Given the description of an element on the screen output the (x, y) to click on. 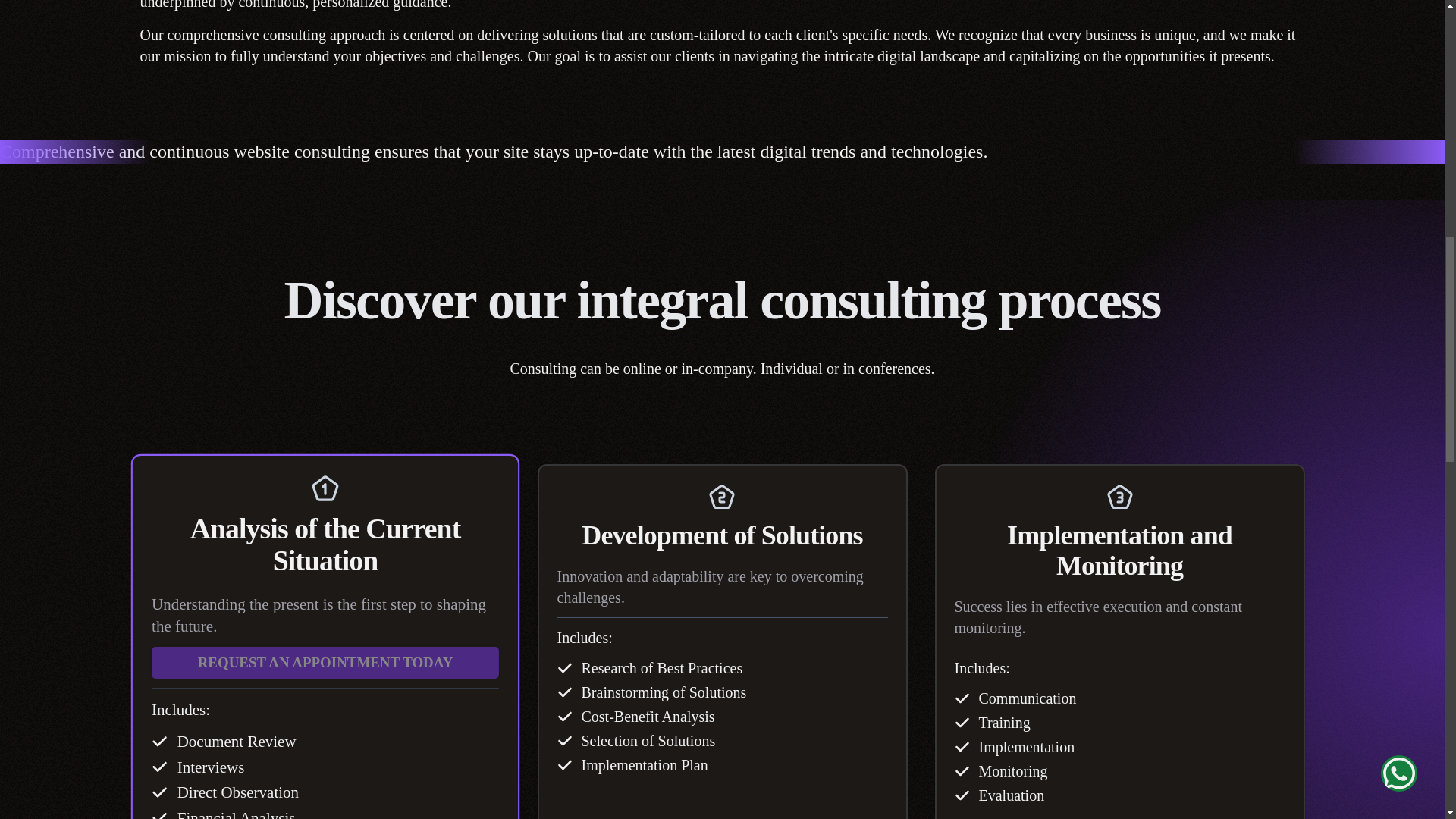
Cost-Benefit Analysis (647, 716)
Selection of Solutions (647, 740)
Financial Analysis (232, 812)
Document Review (232, 740)
Direct Observation (234, 791)
Implementation Plan (643, 764)
Interviews (208, 766)
Training (1003, 722)
Implementation (1026, 746)
Communication (1026, 698)
REQUEST AN APPOINTMENT TODAY (318, 661)
Research of Best Practices (661, 667)
Brainstorming of Solutions (662, 691)
Monitoring (1012, 771)
REQUEST AN APPOINTMENT TODAY (316, 662)
